Given the description of an element on the screen output the (x, y) to click on. 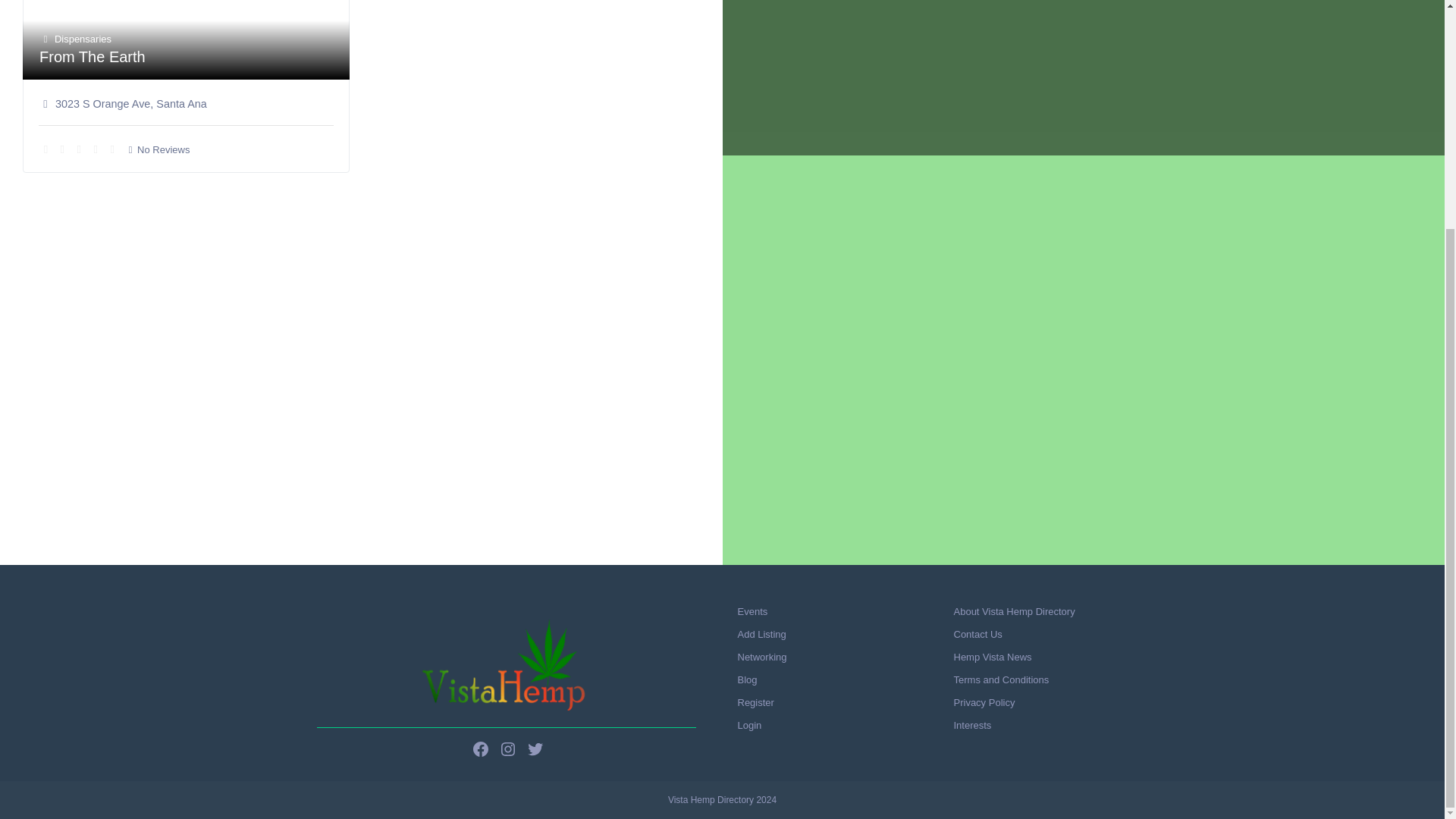
Instagram (507, 749)
Facebook (480, 749)
Contact Us (978, 633)
Register (754, 702)
Add Listing (761, 633)
No rating yet! (82, 149)
Events (751, 611)
View: From The Earth (92, 56)
Terms and Conditions (1001, 679)
Hemp Vista News (992, 656)
From The Earth (92, 56)
Twitter (534, 749)
Interests (972, 725)
Blog (746, 679)
Networking (761, 656)
